Given the description of an element on the screen output the (x, y) to click on. 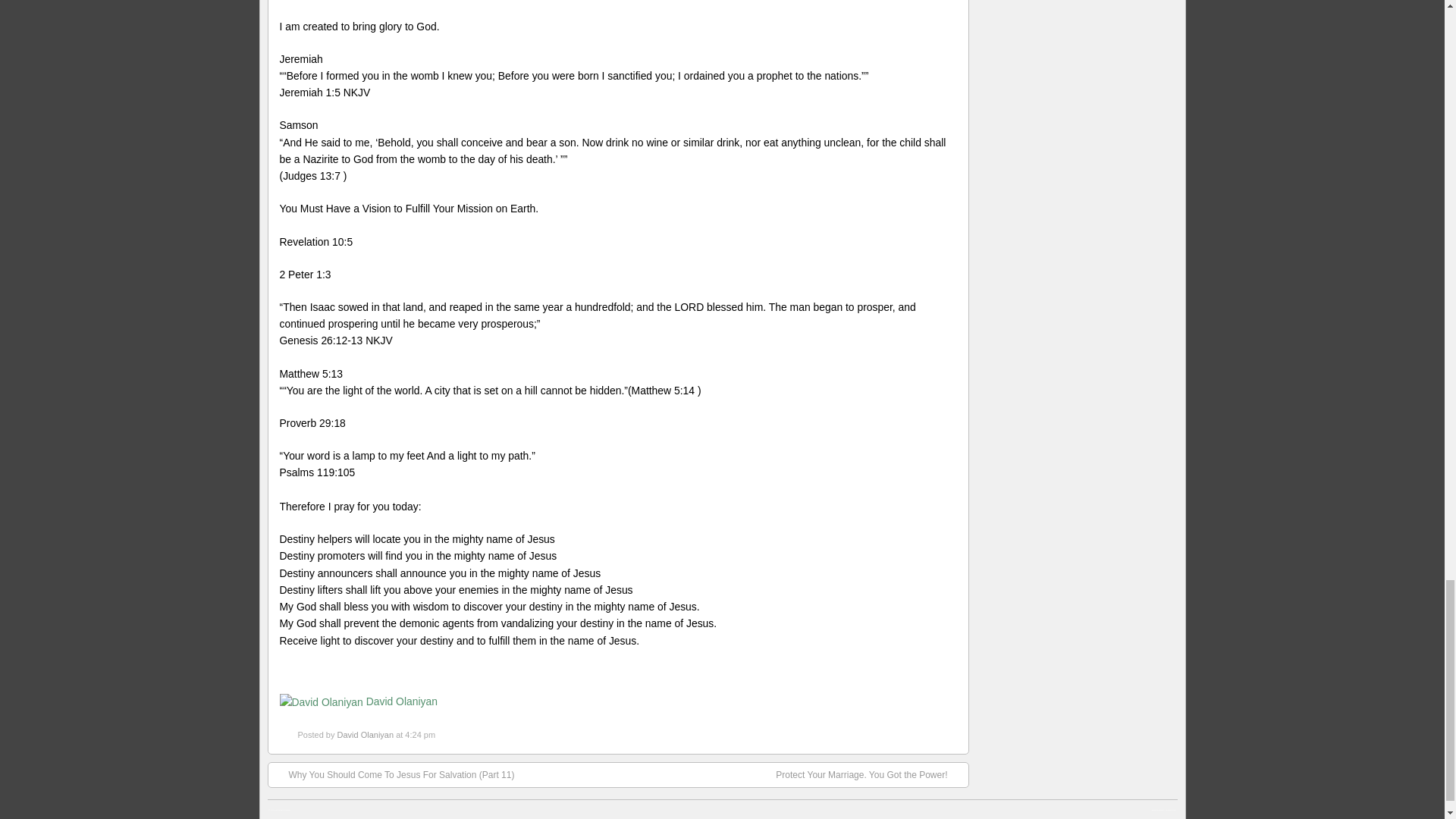
David Olaniyan (364, 734)
  Protect Your Marriage. You Got the Power! (869, 775)
David Olaniyan (402, 701)
